Given the description of an element on the screen output the (x, y) to click on. 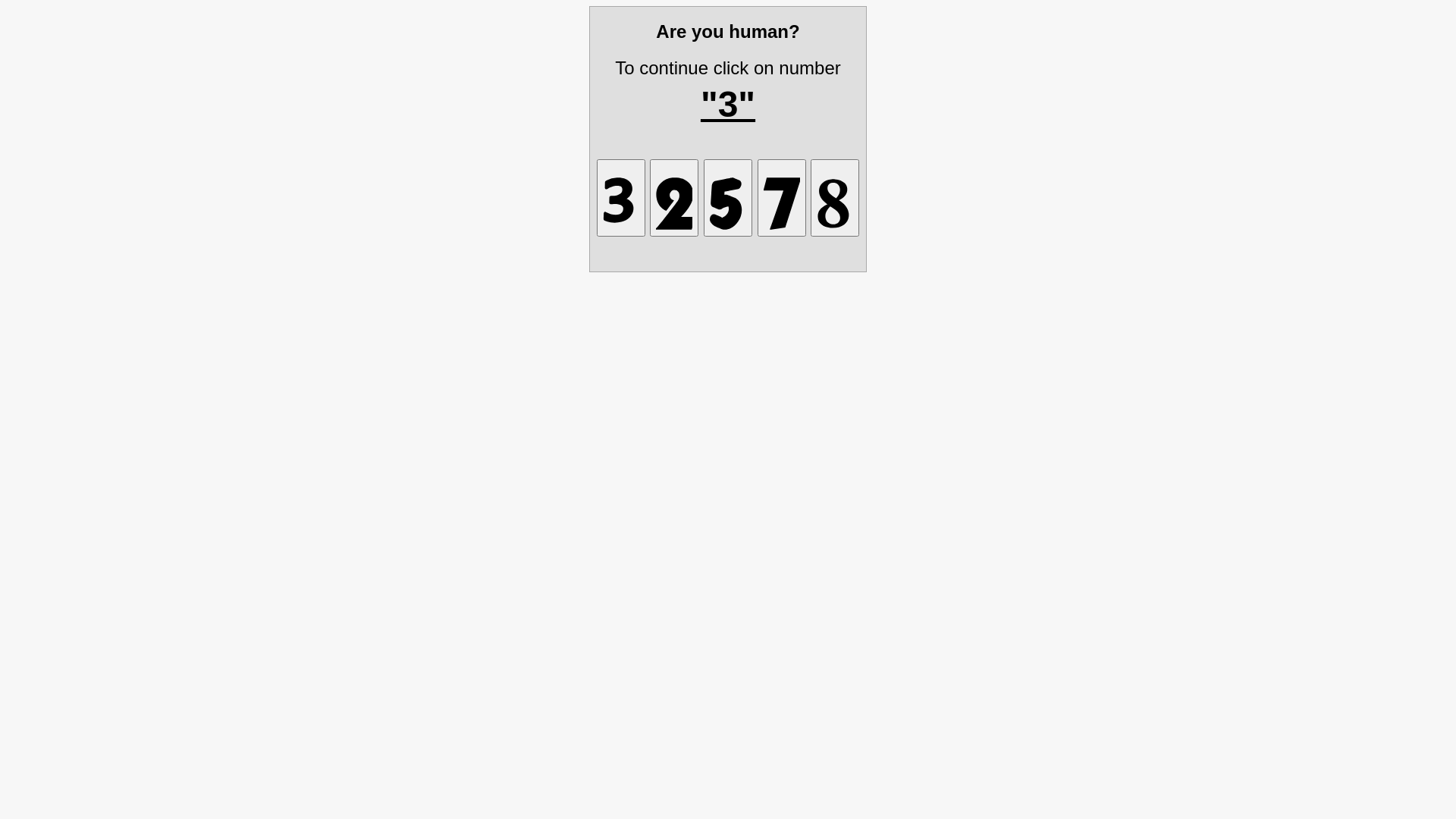
1732344362892424 Element type: text (673, 197)
1732344362331121 Element type: text (620, 197)
1732344362891174 Element type: text (781, 197)
1732344362366331 Element type: text (727, 197)
1732344362185050 Element type: text (834, 197)
